Given the description of an element on the screen output the (x, y) to click on. 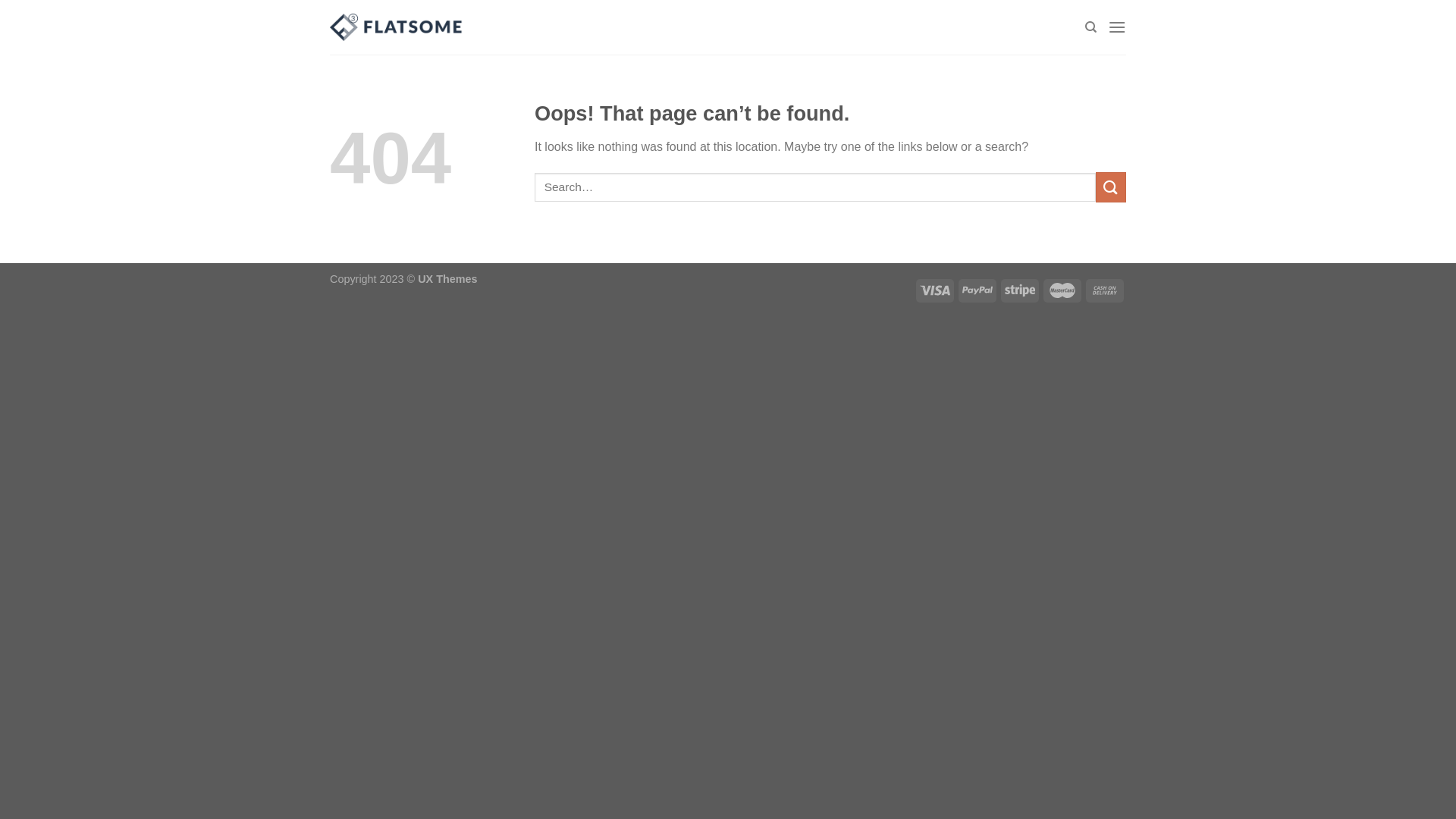
Skip to content Element type: text (0, 0)
